Given the description of an element on the screen output the (x, y) to click on. 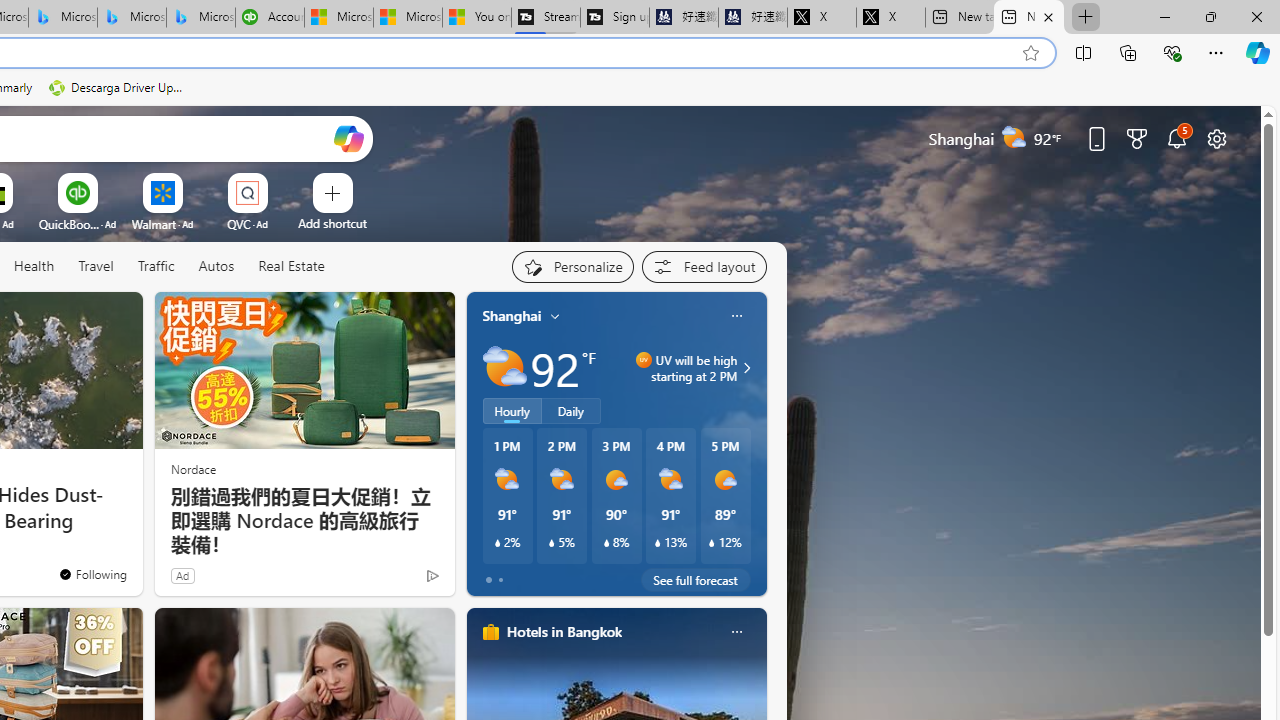
Shanghai (511, 315)
Daily (571, 411)
My location (555, 315)
Personalize your feed" (571, 266)
You're following Newsweek (92, 573)
Microsoft Bing Travel - Stays in Bangkok, Bangkok, Thailand (63, 17)
